Given the description of an element on the screen output the (x, y) to click on. 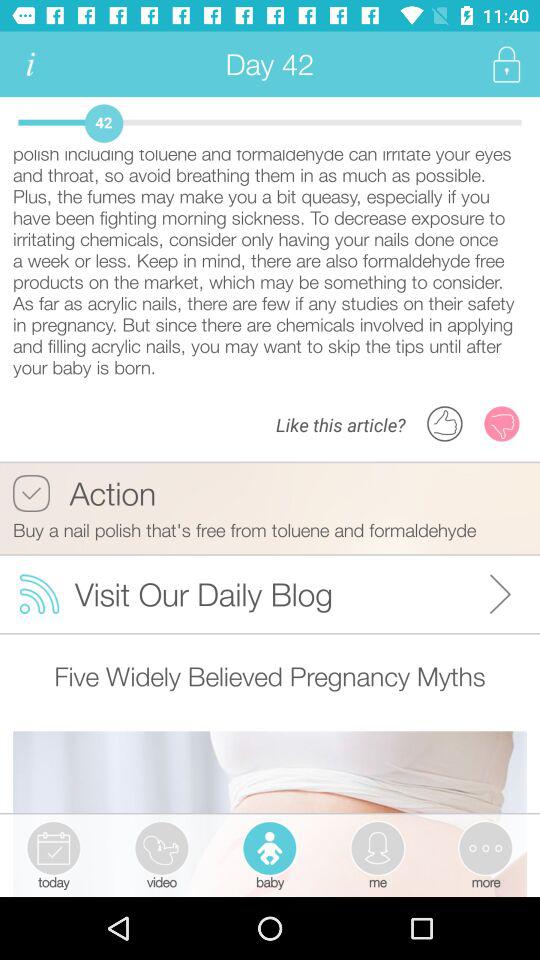
downvote article (502, 423)
